Given the description of an element on the screen output the (x, y) to click on. 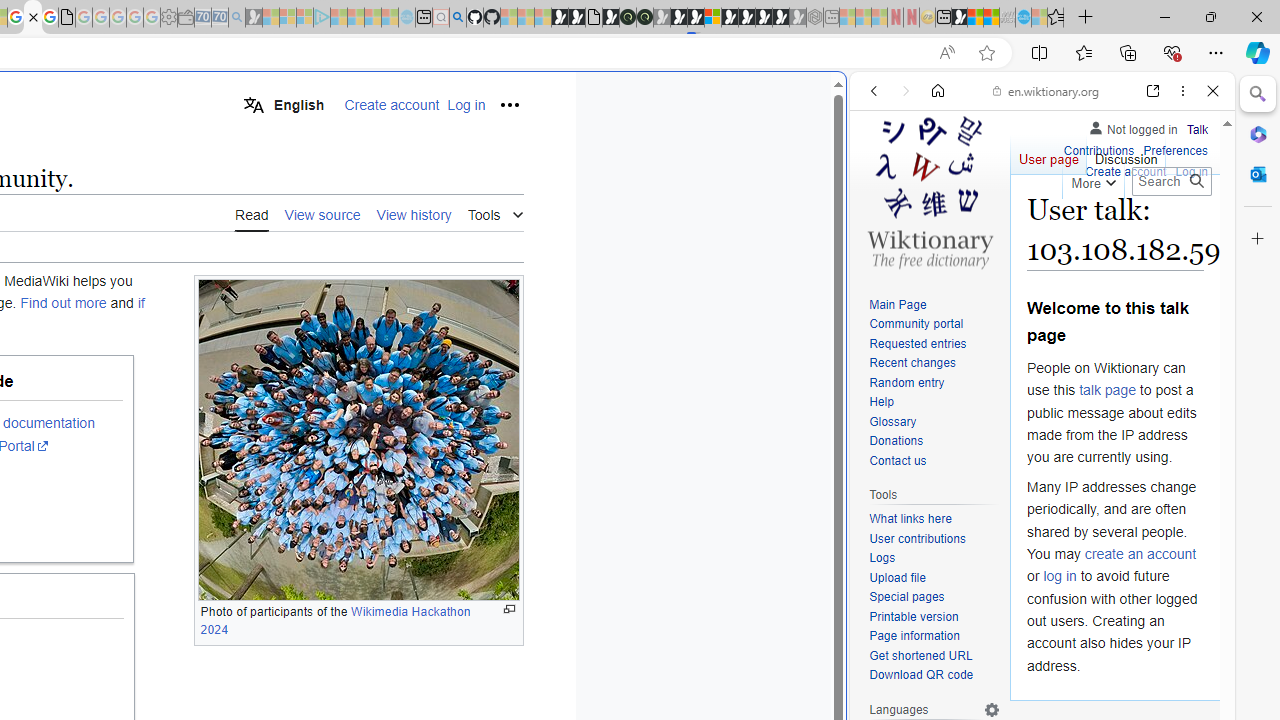
Find out more (63, 303)
Personal tools (508, 104)
More (1092, 179)
Random entry (906, 382)
Settings - Sleeping (168, 17)
Tabs you've opened (276, 265)
Contact us (934, 461)
